Given the description of an element on the screen output the (x, y) to click on. 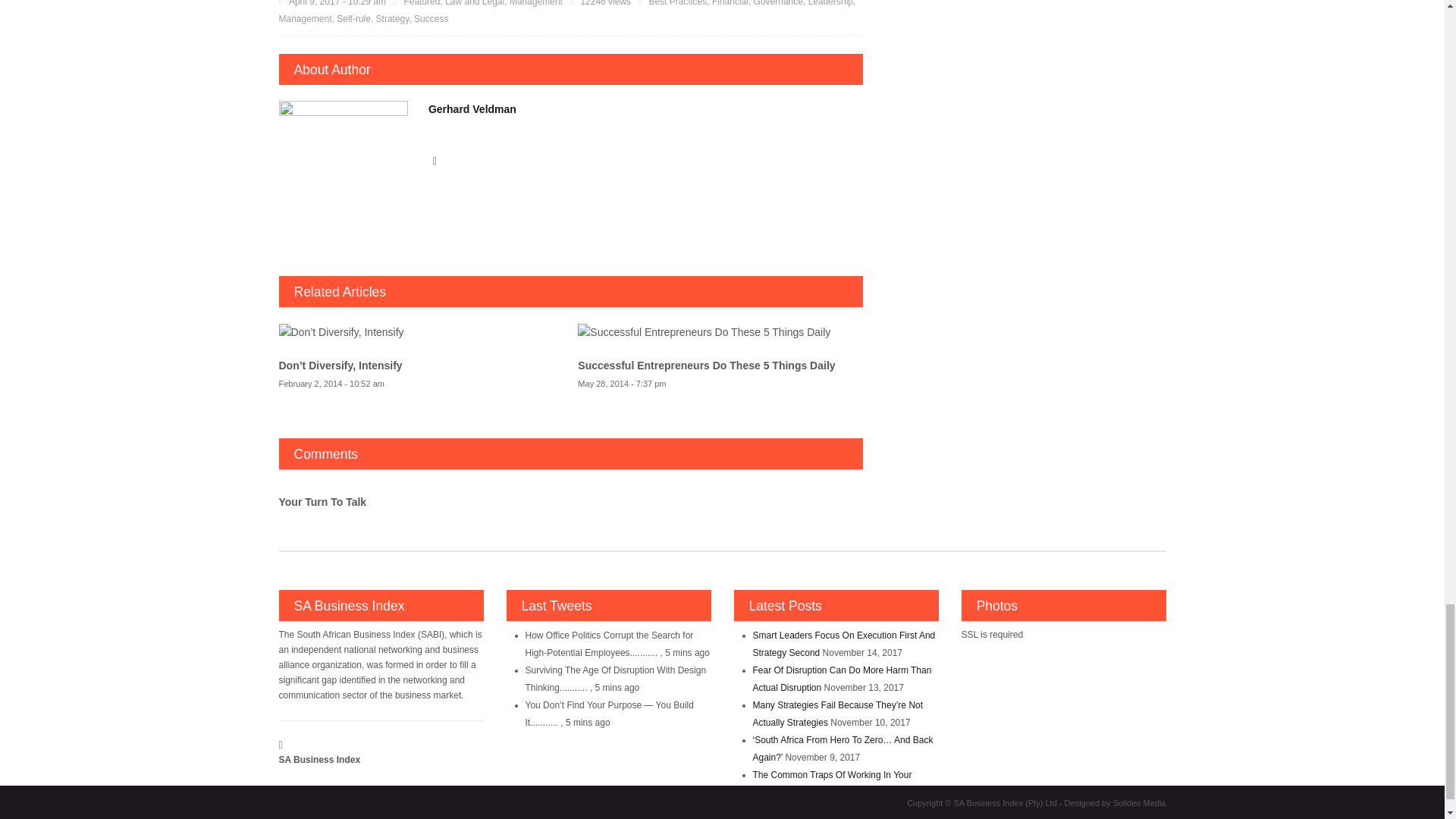
Fear Of Disruption Can Do More Harm Than Actual Disruption (841, 678)
Featured (421, 3)
View all posts in Law and Legal (474, 3)
Law and Legal (474, 3)
Management (535, 3)
Smart Leaders Focus On Execution First And Strategy Second (843, 643)
View all posts in Featured (421, 3)
View all posts in Management (535, 3)
Posts by Gerhard Veldman (472, 109)
